Given the description of an element on the screen output the (x, y) to click on. 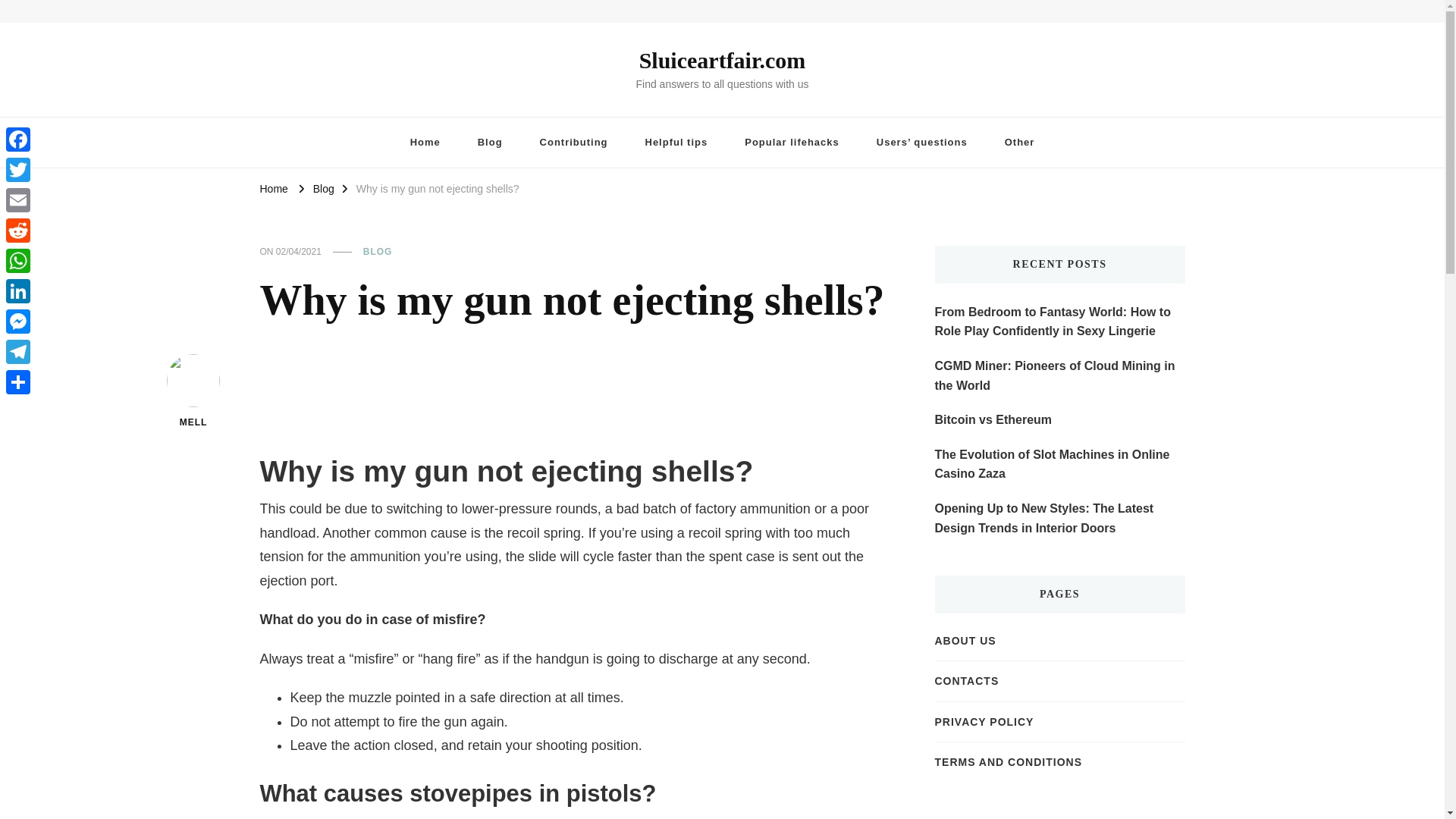
Helpful tips (676, 142)
Twitter (17, 169)
Other (1019, 142)
LinkedIn (17, 291)
Telegram (17, 351)
Facebook (17, 139)
The Evolution of Slot Machines in Online Casino Zaza (1059, 464)
Messenger (17, 321)
Reddit (17, 230)
CGMD Miner: Pioneers of Cloud Mining in the World (1059, 375)
